Given the description of an element on the screen output the (x, y) to click on. 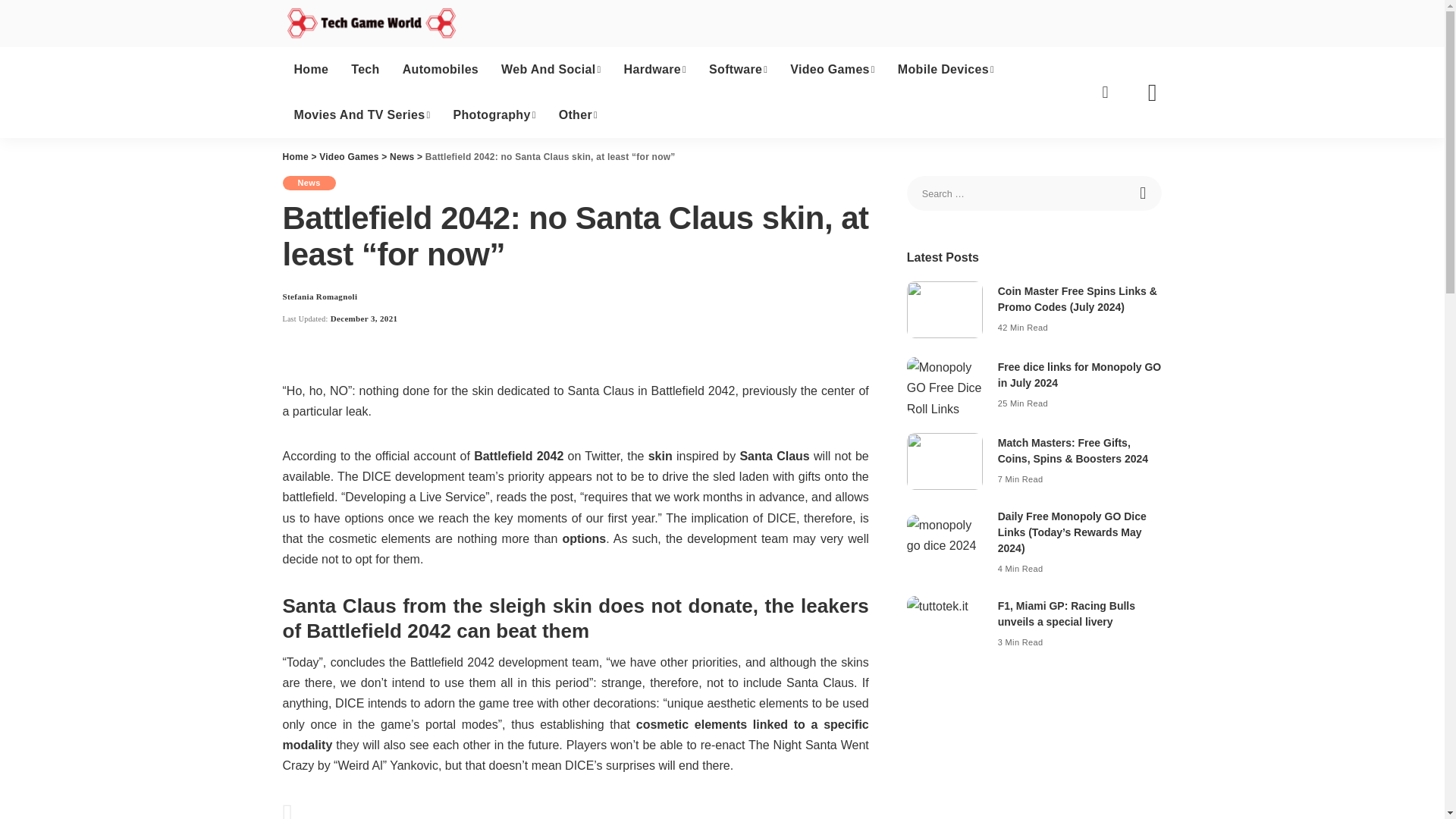
Search (1143, 193)
Search (1143, 193)
